Given the description of an element on the screen output the (x, y) to click on. 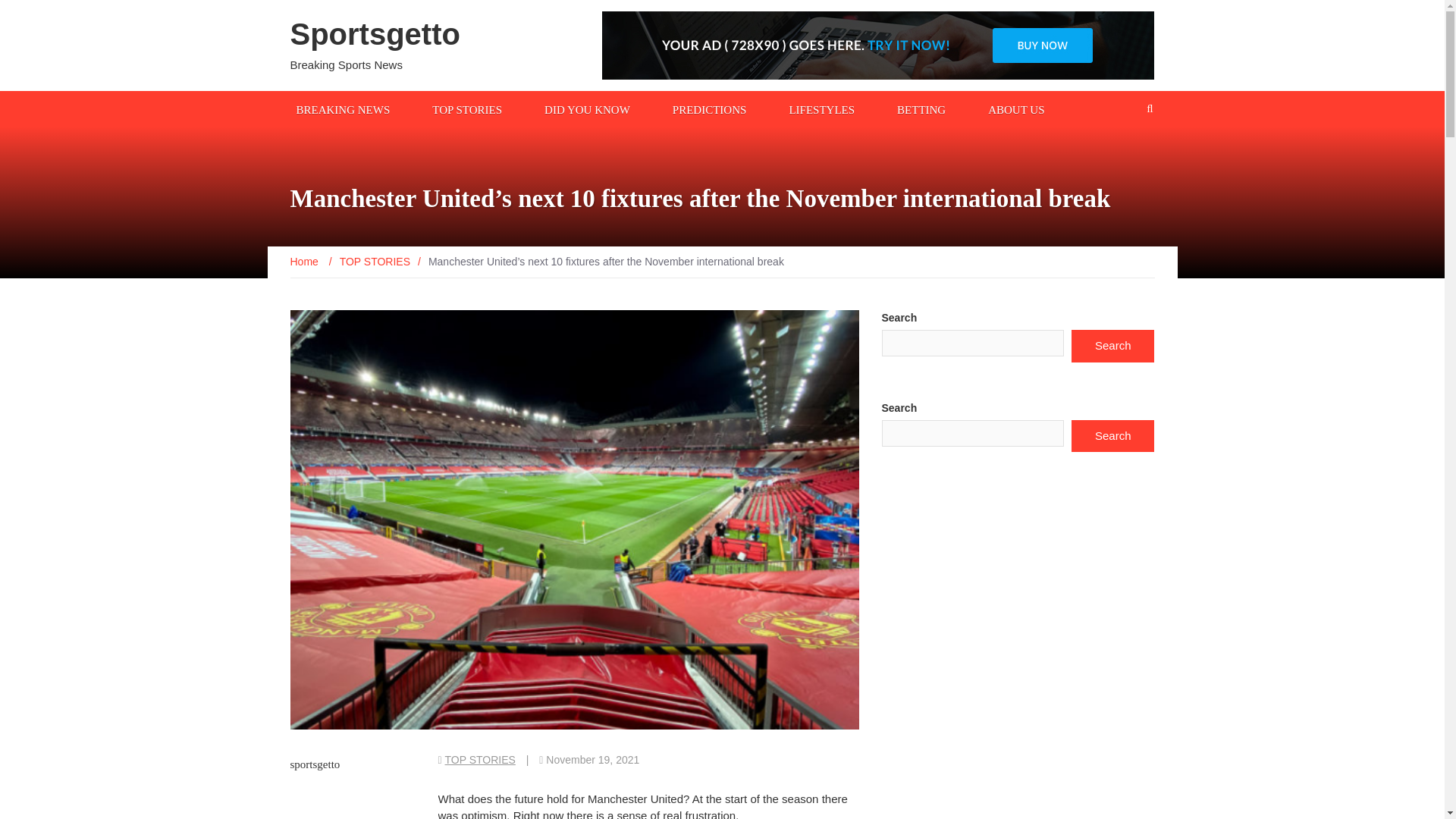
Home (304, 261)
LIFESTYLES (821, 108)
sportsgetto (314, 764)
ABOUT US (1015, 108)
TOP STORIES (480, 759)
TOP STORIES (467, 108)
BETTING (921, 108)
Posts by sportsgetto (314, 764)
Sportsgetto (374, 33)
BREAKING NEWS (342, 108)
